Given the description of an element on the screen output the (x, y) to click on. 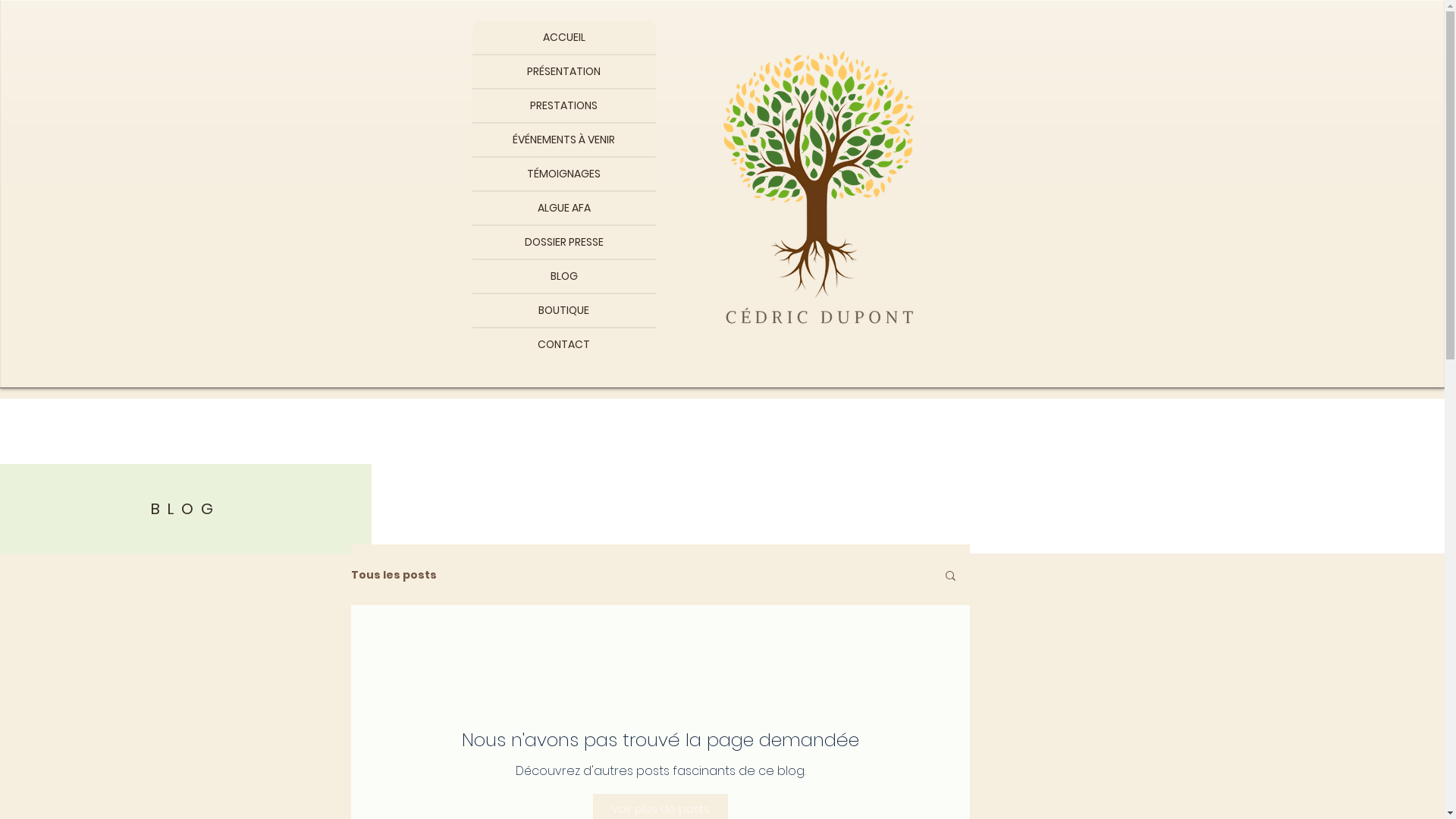
ALGUE AFA Element type: text (563, 207)
BOUTIQUE Element type: text (563, 310)
Tous les posts Element type: text (393, 575)
PRESTATIONS Element type: text (563, 105)
DOSSIER PRESSE Element type: text (563, 241)
CONTACT Element type: text (563, 344)
BLOG Element type: text (563, 276)
ACCUEIL Element type: text (563, 37)
